Given the description of an element on the screen output the (x, y) to click on. 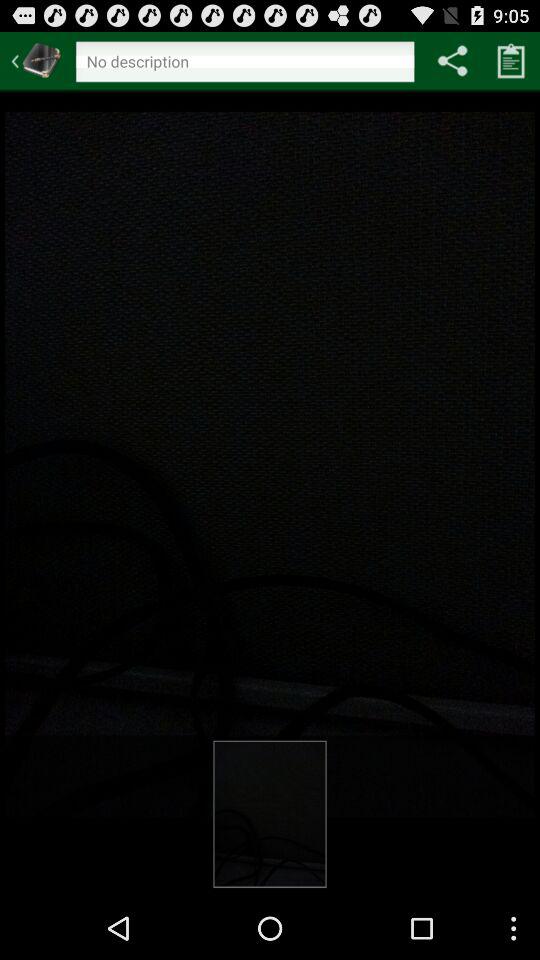
edit description title (244, 64)
